Given the description of an element on the screen output the (x, y) to click on. 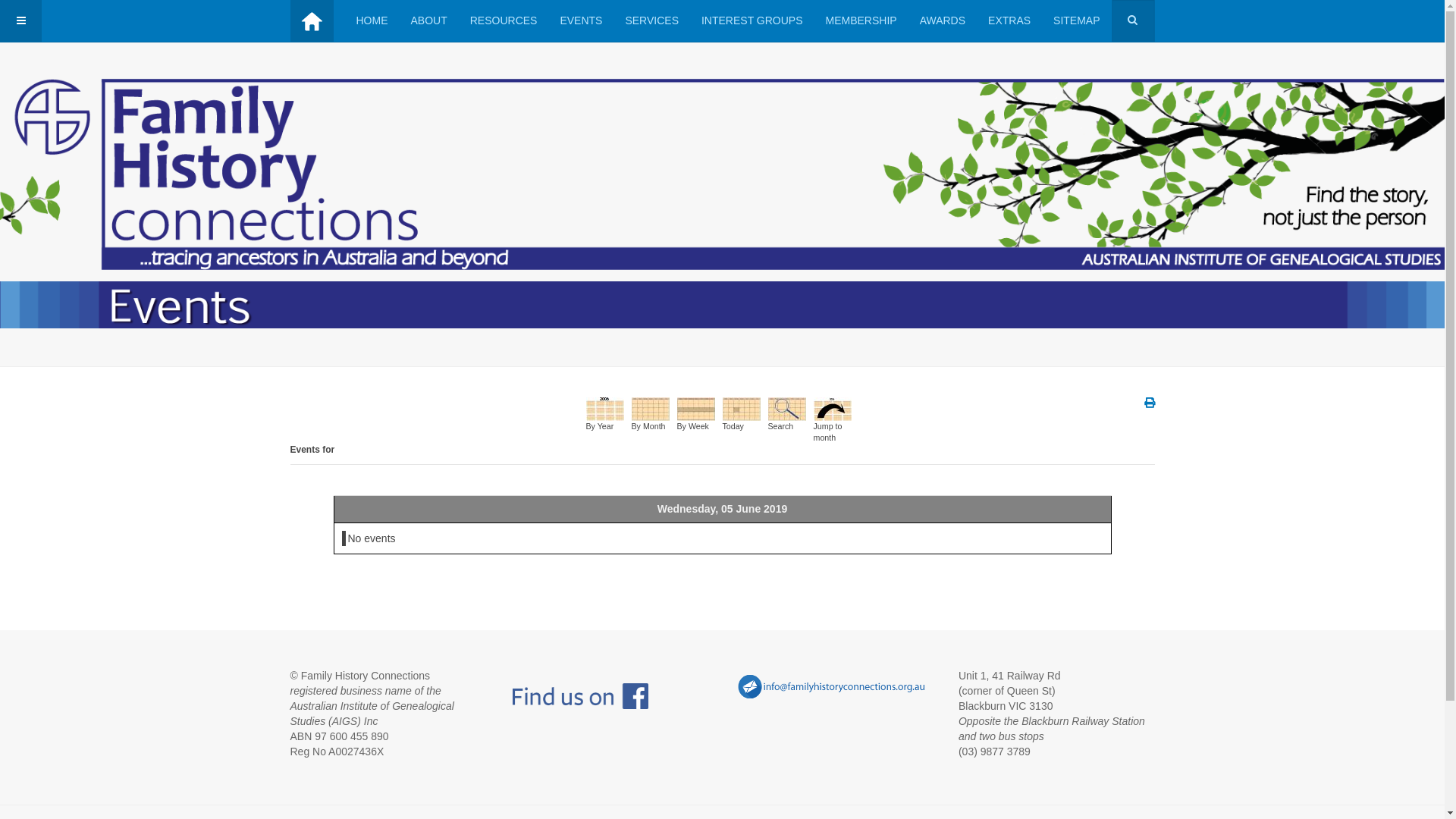
EVENTS Element type: text (580, 20)
INTEREST GROUPS Element type: text (752, 20)
Today Element type: hover (740, 407)
By Month Element type: hover (649, 407)
EXTRAS Element type: text (1009, 20)
MEMBERSHIP Element type: text (861, 20)
Print Element type: hover (1148, 402)
HOME Element type: text (372, 20)
Family History Connections Element type: hover (310, 20)
  Element type: text (608, 689)
SERVICES Element type: text (651, 20)
Search Element type: hover (786, 407)
AWARDS Element type: text (942, 20)
ABOUT Element type: text (429, 20)
By Week Element type: hover (695, 407)
RESOURCES Element type: text (503, 20)
SITEMAP Element type: text (1076, 20)
Jump to month Element type: hover (831, 407)
By Year Element type: hover (604, 407)
